Given the description of an element on the screen output the (x, y) to click on. 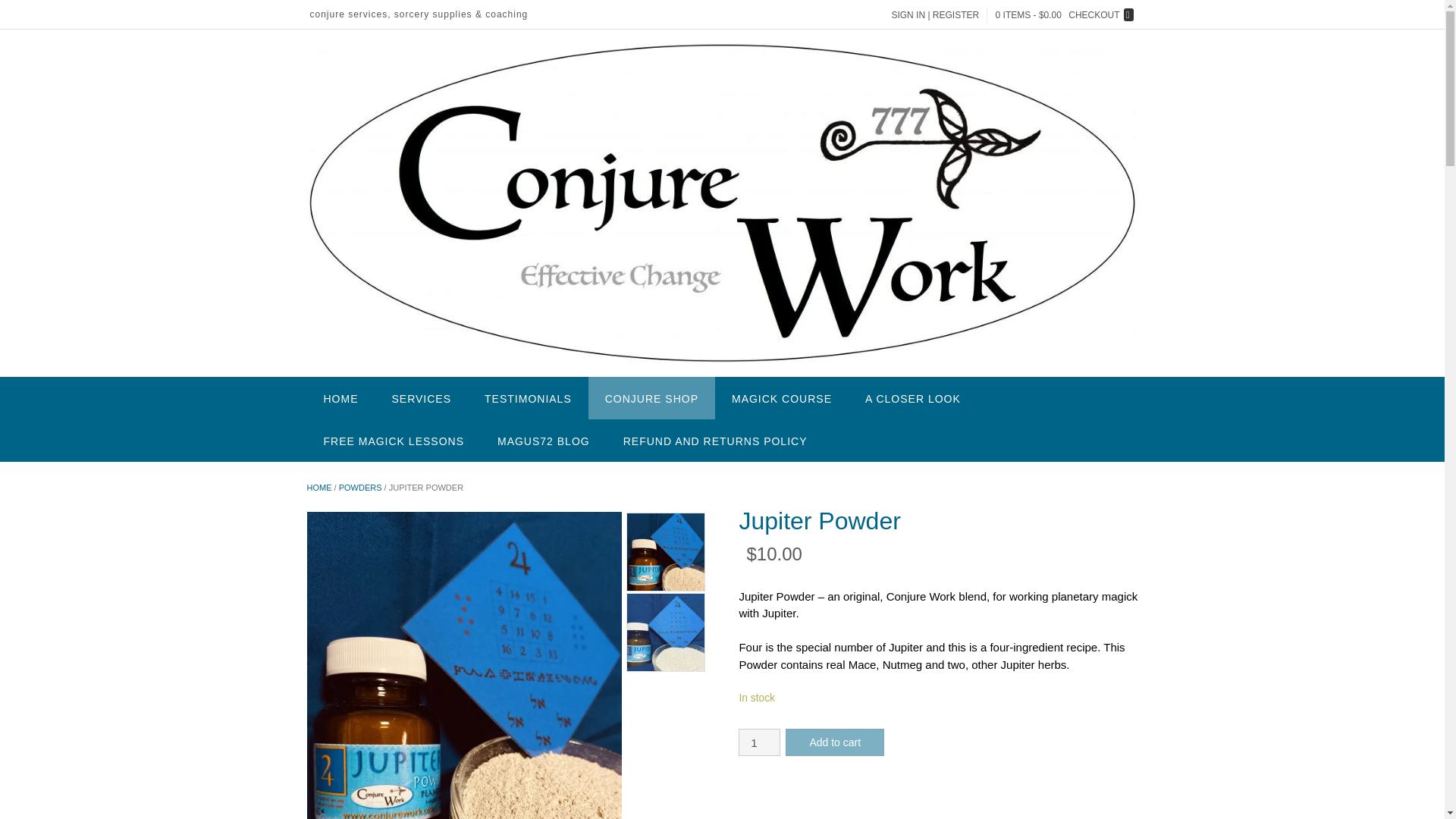
PayPal (937, 798)
FREE MAGICK LESSONS (392, 440)
Jupiter Powder (666, 551)
A CLOSER LOOK (912, 397)
HOME (339, 397)
Jupiter Powder (666, 632)
MAGICK COURSE (781, 397)
SERVICES (420, 397)
CONJURE SHOP (651, 397)
TESTIMONIALS (527, 397)
1 (759, 741)
